Given the description of an element on the screen output the (x, y) to click on. 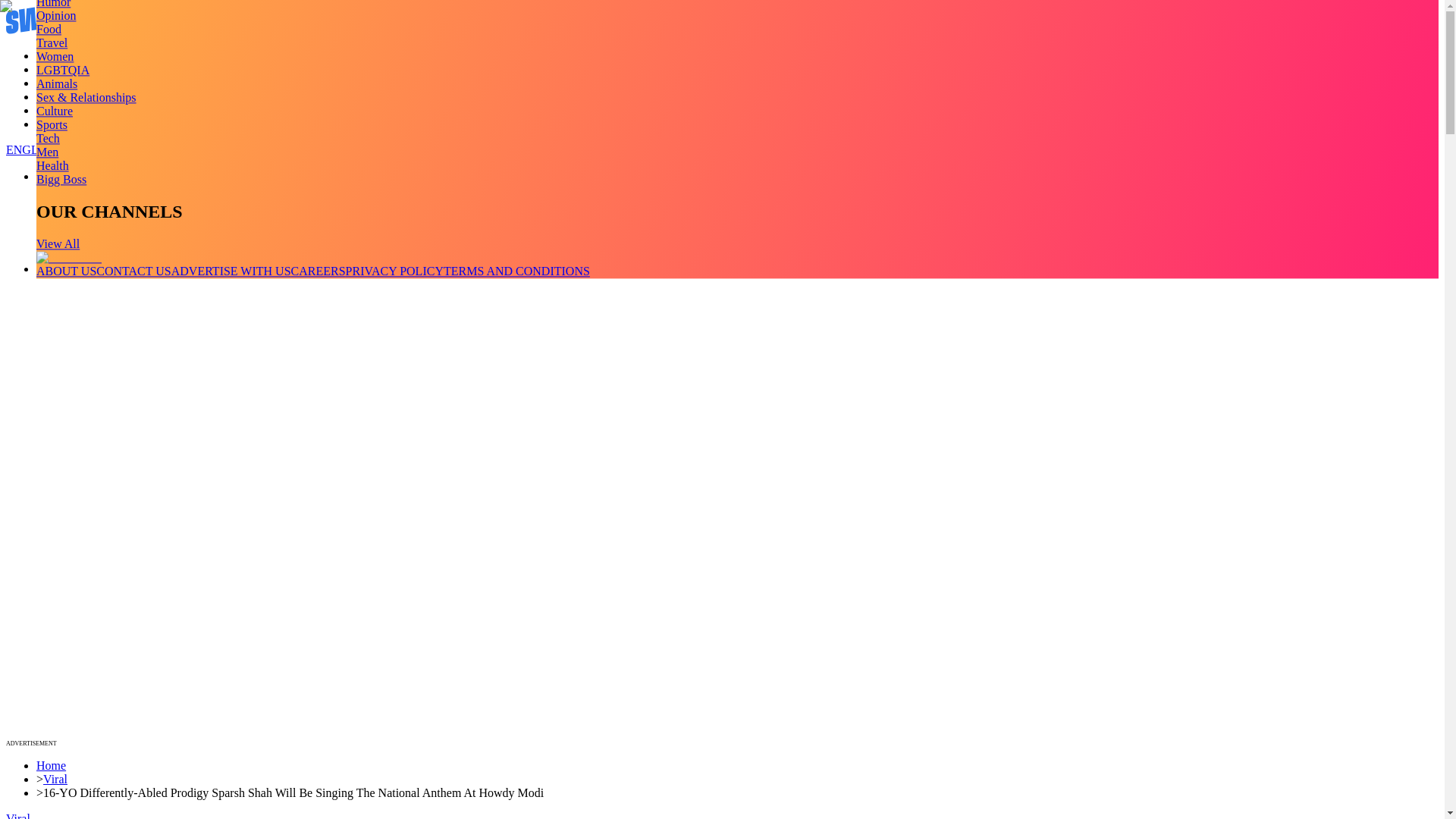
Opinion (55, 15)
Memes (53, 110)
CONTACT US (133, 270)
ENGLISH (31, 149)
Tech (47, 137)
LGBTQIA (62, 69)
Quizzes (55, 96)
Health (52, 164)
Spotlight (58, 123)
Culture (54, 110)
Food (48, 29)
Men (47, 151)
Women (55, 56)
Humor (52, 4)
Trending (58, 55)
